Given the description of an element on the screen output the (x, y) to click on. 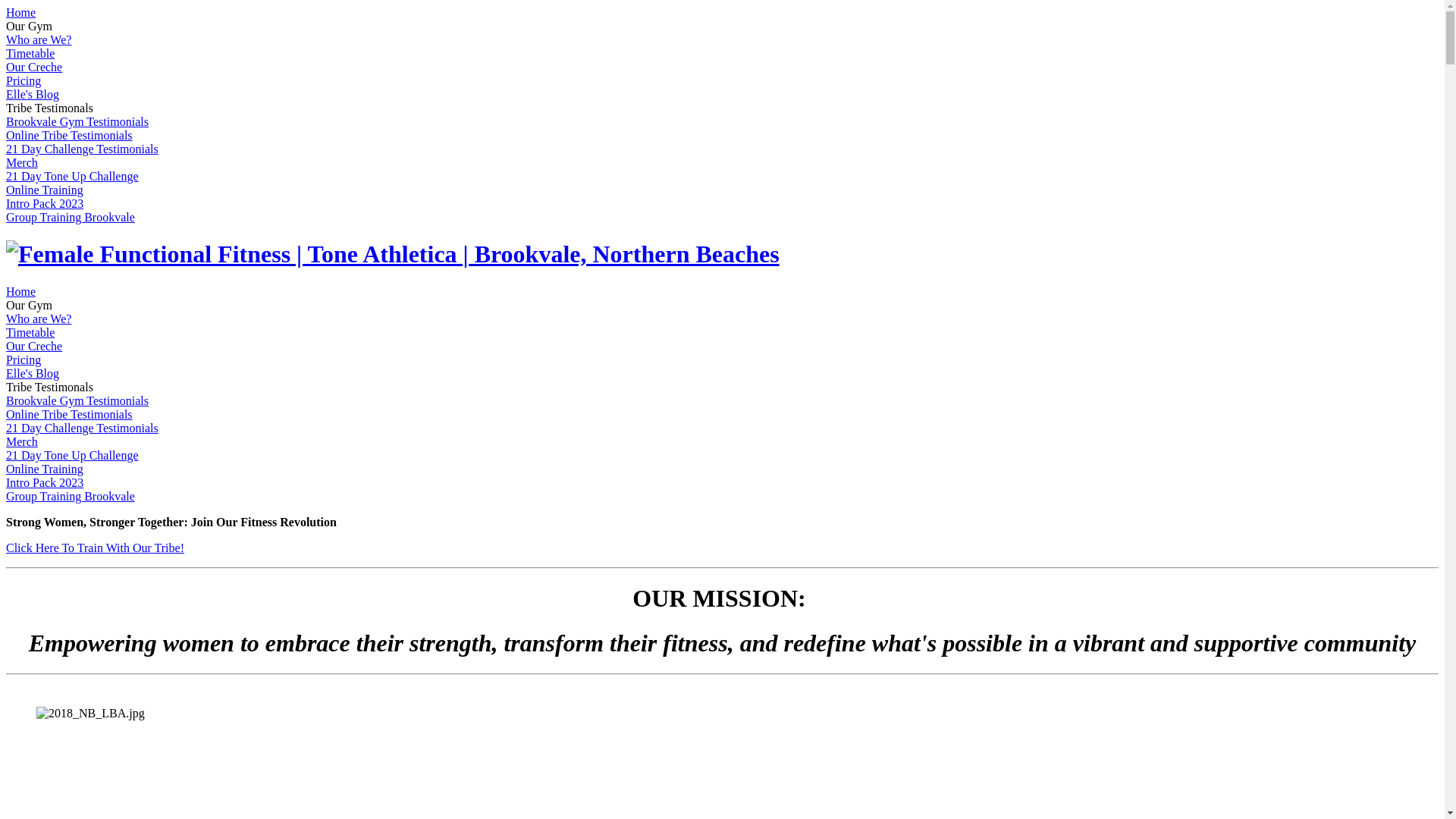
Online Training Element type: text (44, 189)
Online Tribe Testimonials Element type: text (69, 134)
Home Element type: text (20, 12)
Pricing Element type: text (23, 80)
Brookvale Gym Testimonials Element type: text (77, 400)
21 Day Tone Up Challenge Element type: text (72, 454)
Online Training Element type: text (44, 468)
Intro Pack 2023 Element type: text (44, 482)
Elle's Blog Element type: text (32, 93)
Merch Element type: text (21, 162)
21 Day Challenge Testimonials Element type: text (82, 427)
Merch Element type: text (21, 441)
Pricing Element type: text (23, 359)
Intro Pack 2023 Element type: text (44, 203)
21 Day Challenge Testimonials Element type: text (82, 148)
21 Day Tone Up Challenge Element type: text (72, 175)
Timetable Element type: text (30, 53)
Our Creche Element type: text (34, 66)
Timetable Element type: text (30, 332)
Home Element type: text (20, 291)
Group Training Brookvale Element type: text (70, 495)
Group Training Brookvale Element type: text (70, 216)
Brookvale Gym Testimonials Element type: text (77, 121)
Click Here To Train With Our Tribe! Element type: text (95, 547)
Who are We? Element type: text (38, 318)
Our Creche Element type: text (34, 345)
Elle's Blog Element type: text (32, 373)
Online Tribe Testimonials Element type: text (69, 413)
Who are We? Element type: text (38, 39)
